Given the description of an element on the screen output the (x, y) to click on. 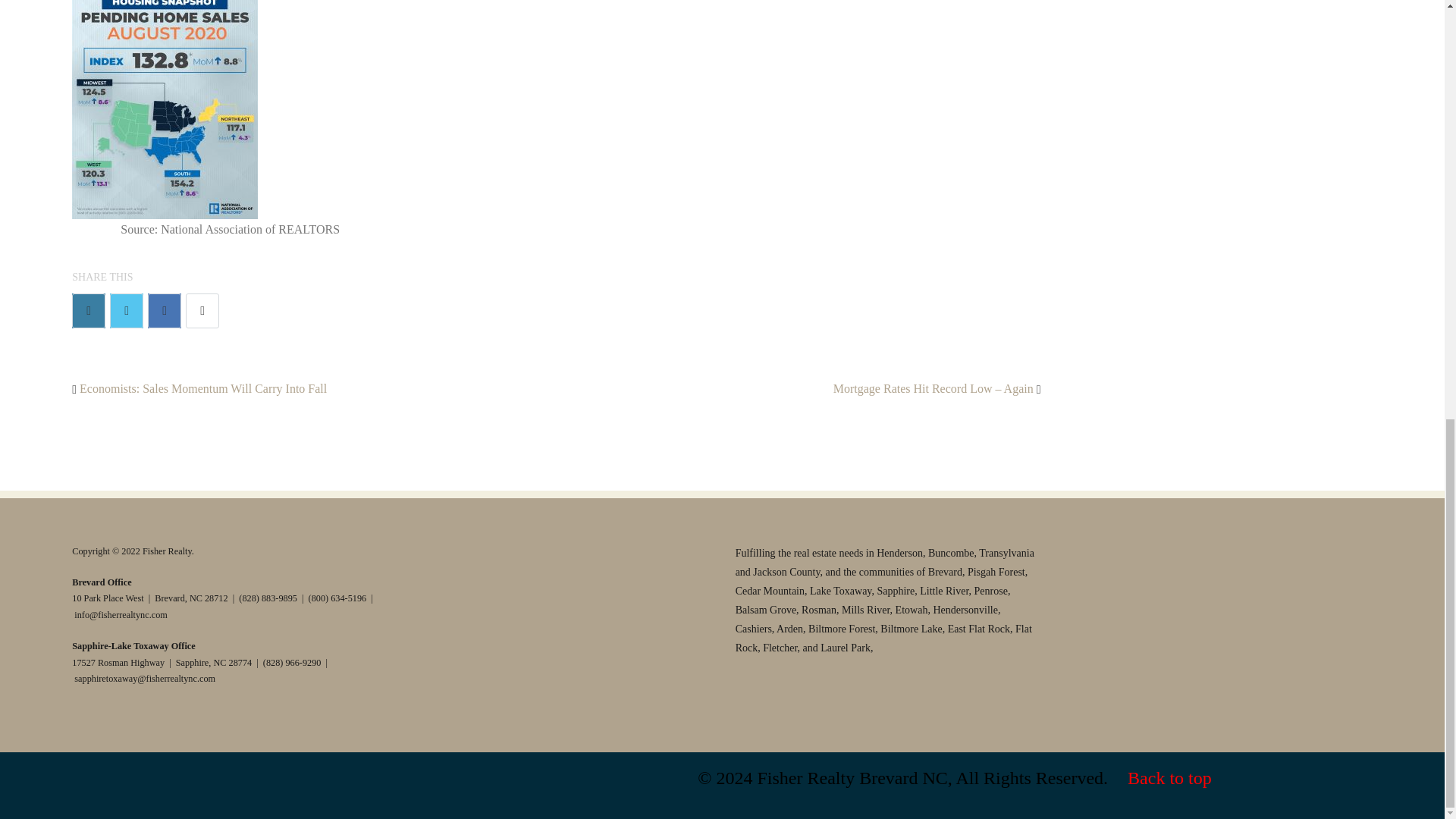
LuxuryHomes.com (535, 603)
